Given the description of an element on the screen output the (x, y) to click on. 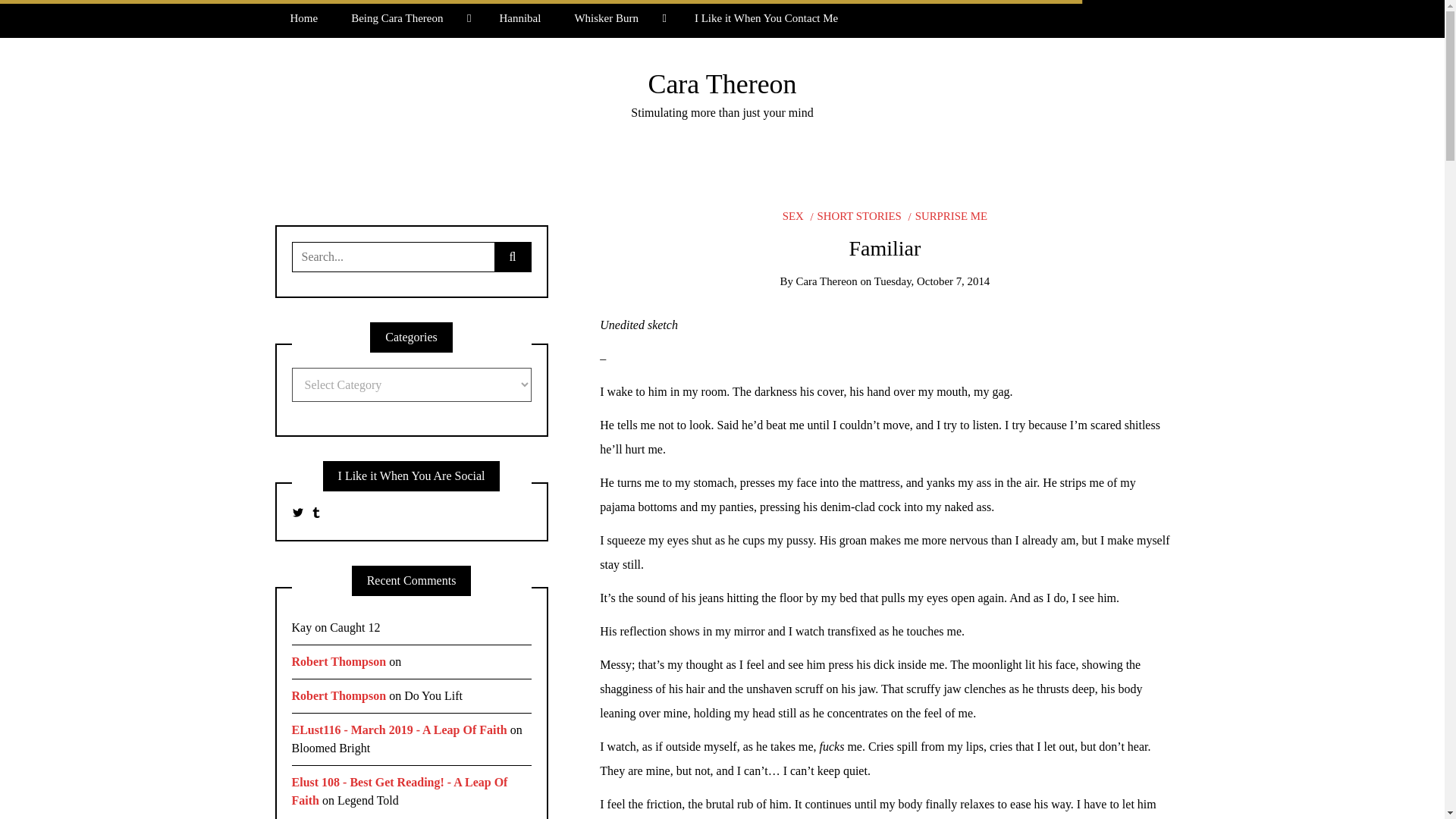
Hannibal (519, 18)
Cara Thereon (826, 281)
SURPRISE ME (948, 215)
Posts by Cara Thereon (826, 281)
SEX (793, 215)
Home (304, 18)
Tuesday, October 7, 2014 (932, 281)
I Like it When You Contact Me (766, 18)
Cara Thereon (721, 83)
Being Cara Thereon (408, 18)
SHORT STORIES (855, 215)
Whisker Burn (618, 18)
